Given the description of an element on the screen output the (x, y) to click on. 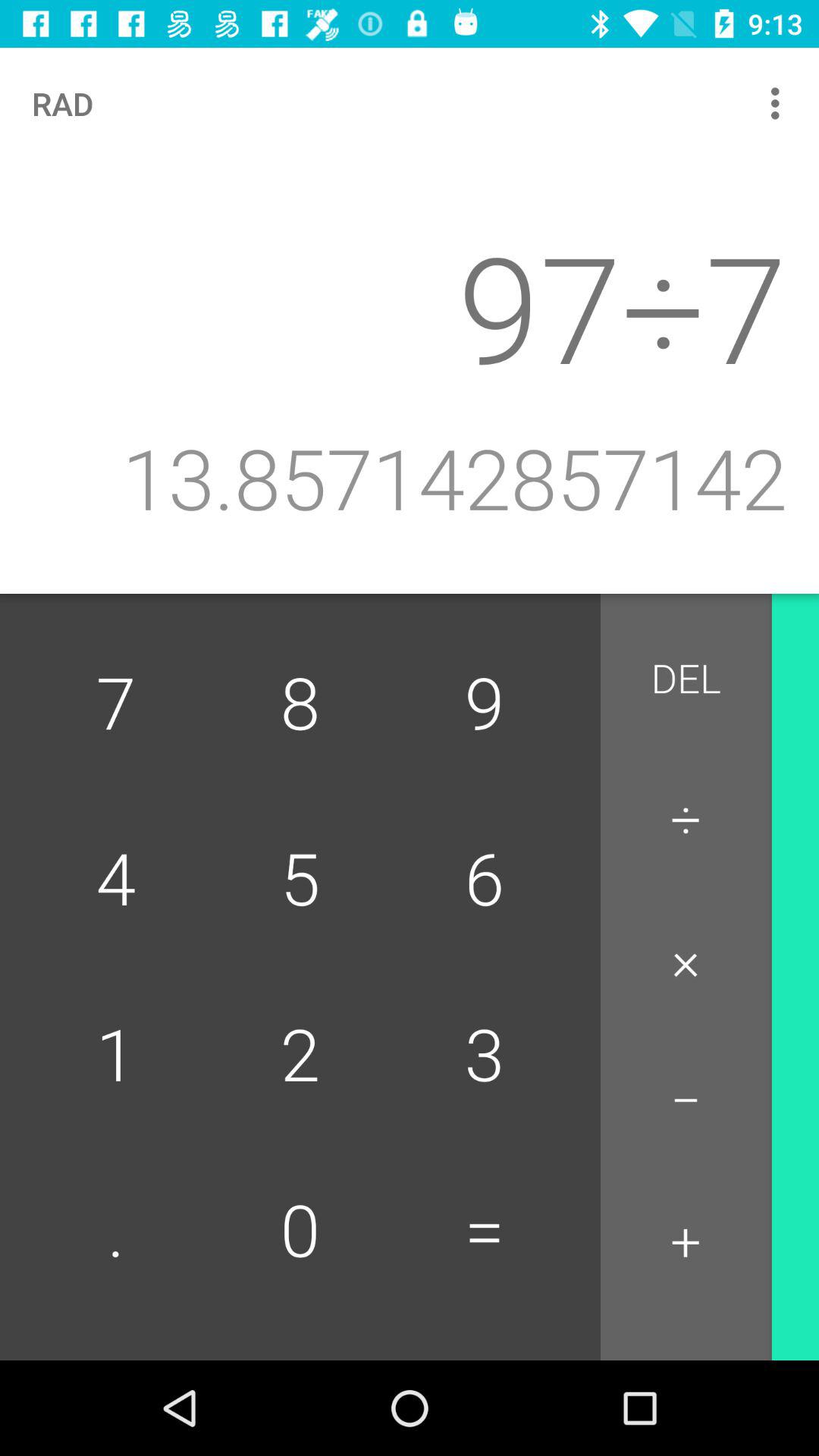
choose the item to the left of the 9 item (300, 705)
